Given the description of an element on the screen output the (x, y) to click on. 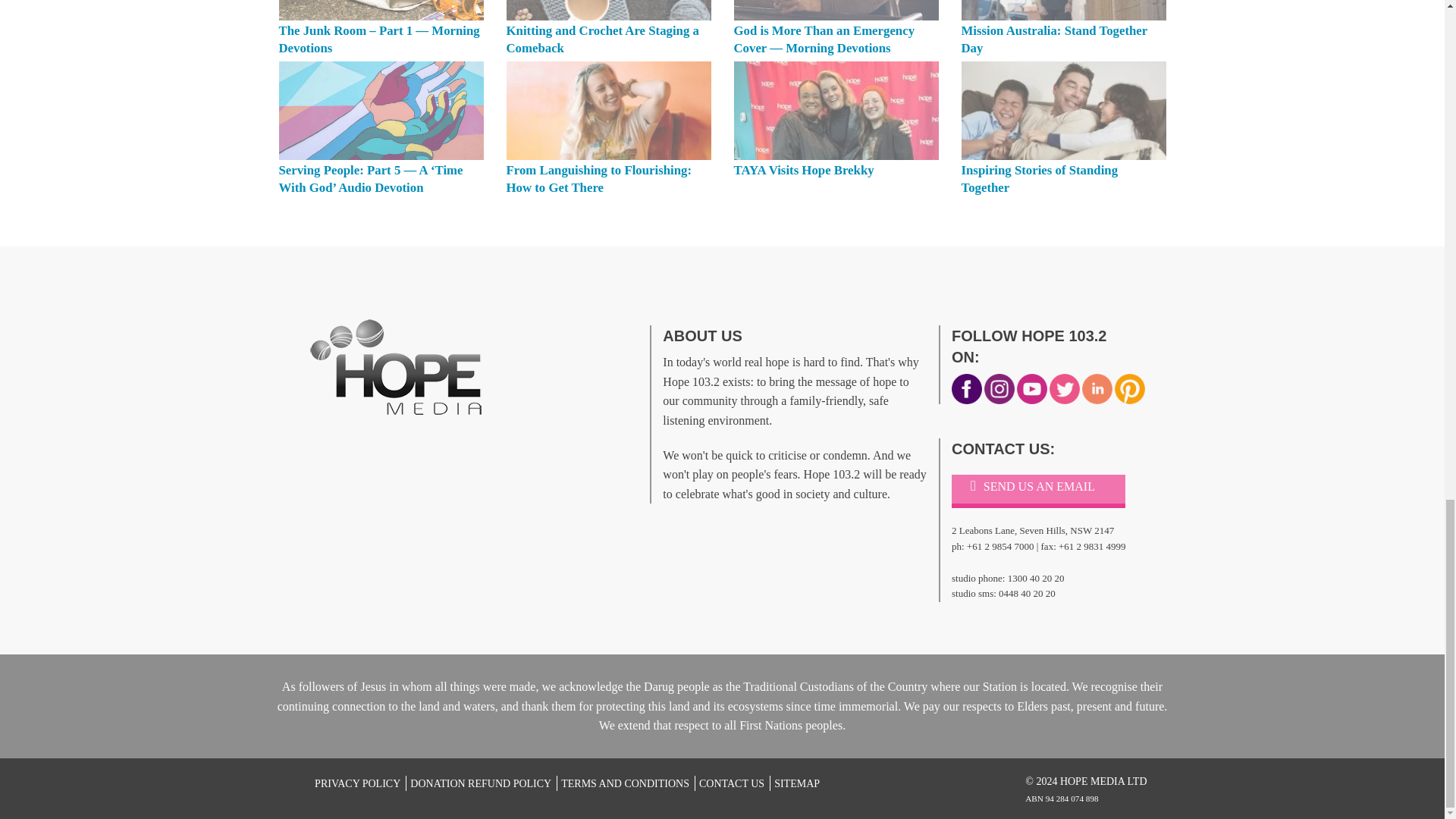
Knitting and Crochet Are Staging a Comeback (602, 39)
Mission Australia: Stand Together Day (1063, 10)
Mission Australia: Stand Together Day (1053, 39)
Knitting and Crochet Are Staging a Comeback (608, 10)
From Languishing to Flourishing: How to Get There (608, 110)
